Given the description of an element on the screen output the (x, y) to click on. 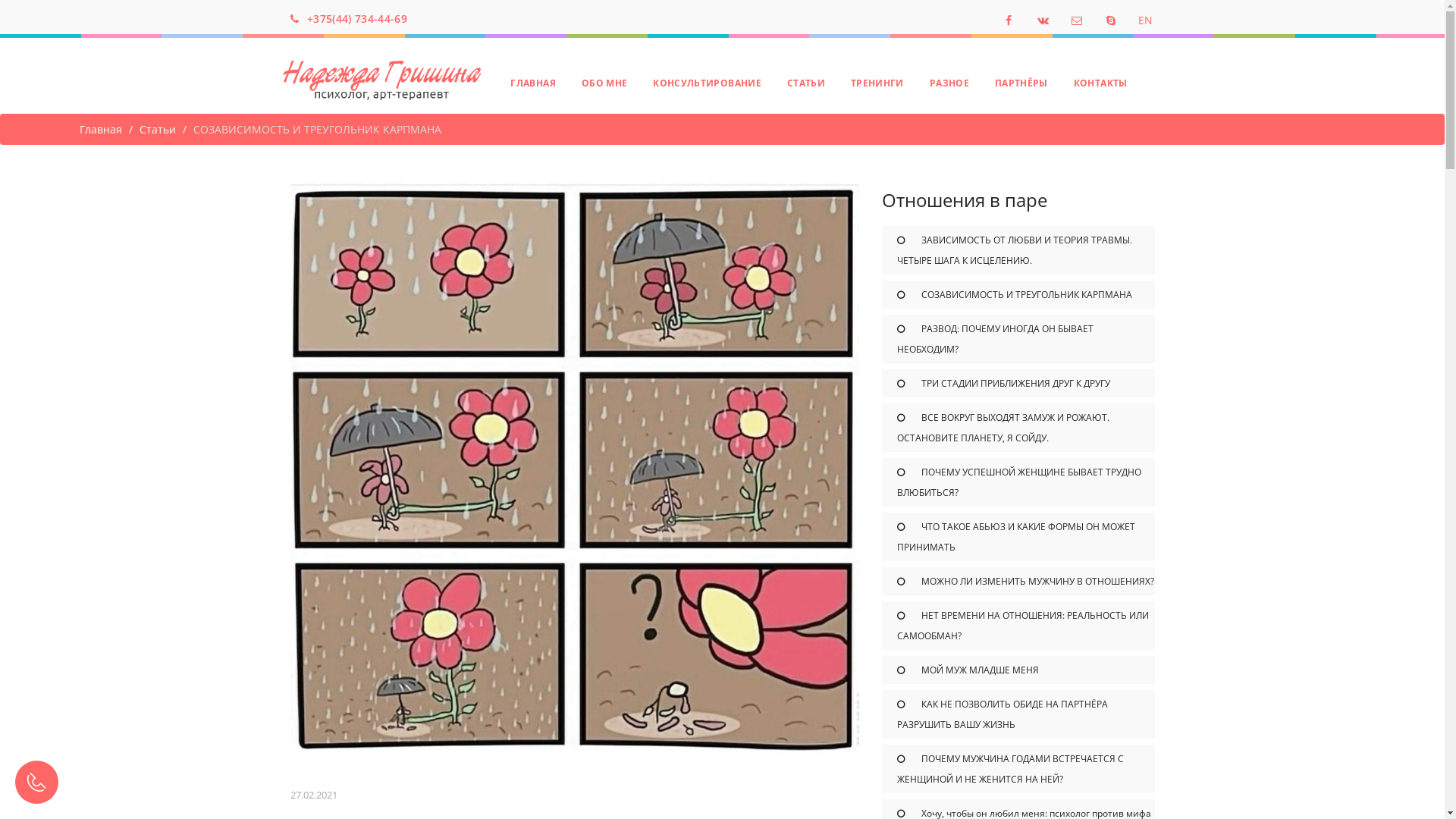
EN Element type: text (1144, 19)
+375(44) 734-44-69 Element type: text (357, 18)
27.02.2021 Element type: text (312, 794)
